Given the description of an element on the screen output the (x, y) to click on. 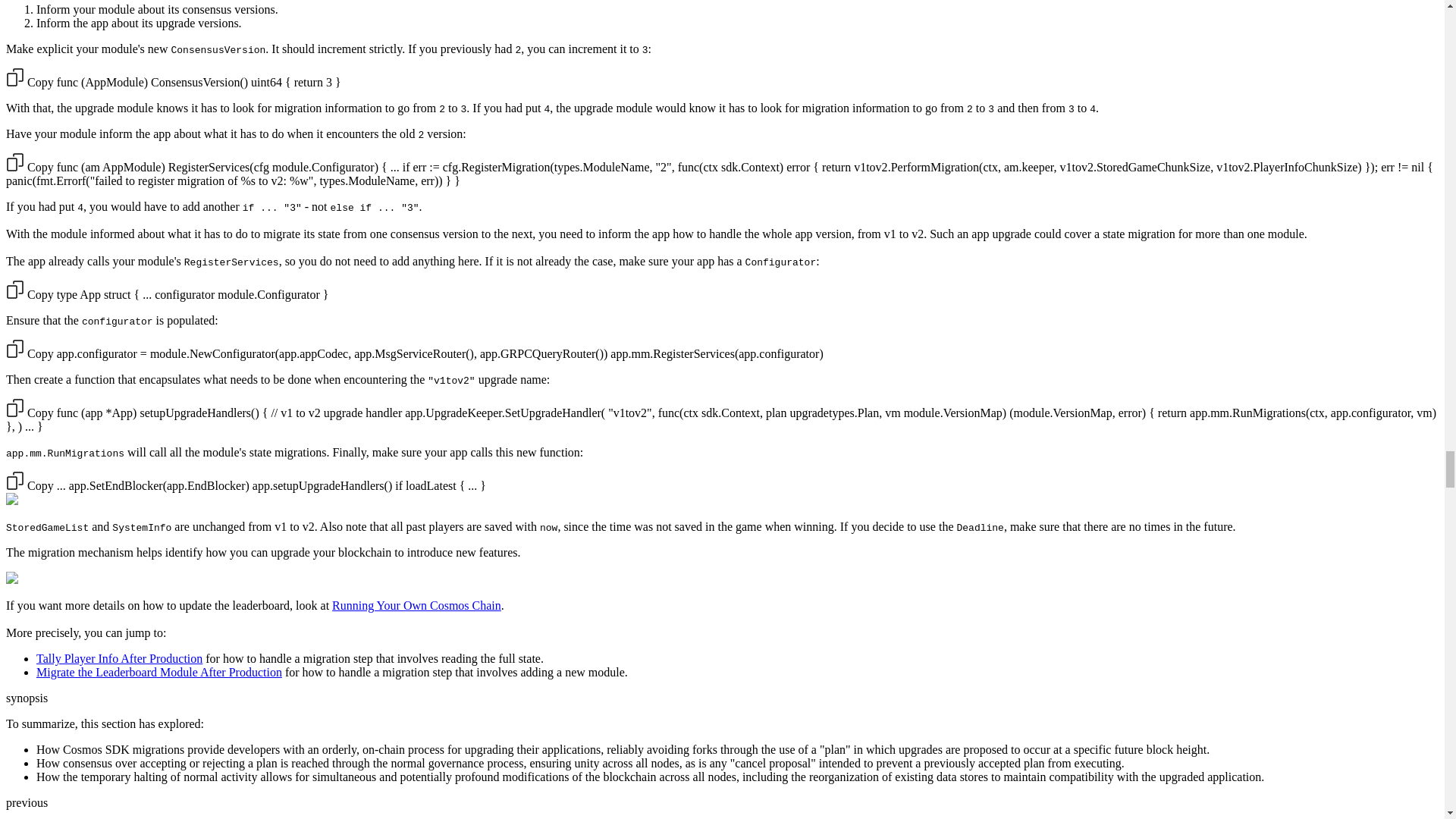
Running Your Own Cosmos Chain (415, 604)
Tally Player Info After Production (119, 658)
Migrate the Leaderboard Module After Production (159, 671)
